Given the description of an element on the screen output the (x, y) to click on. 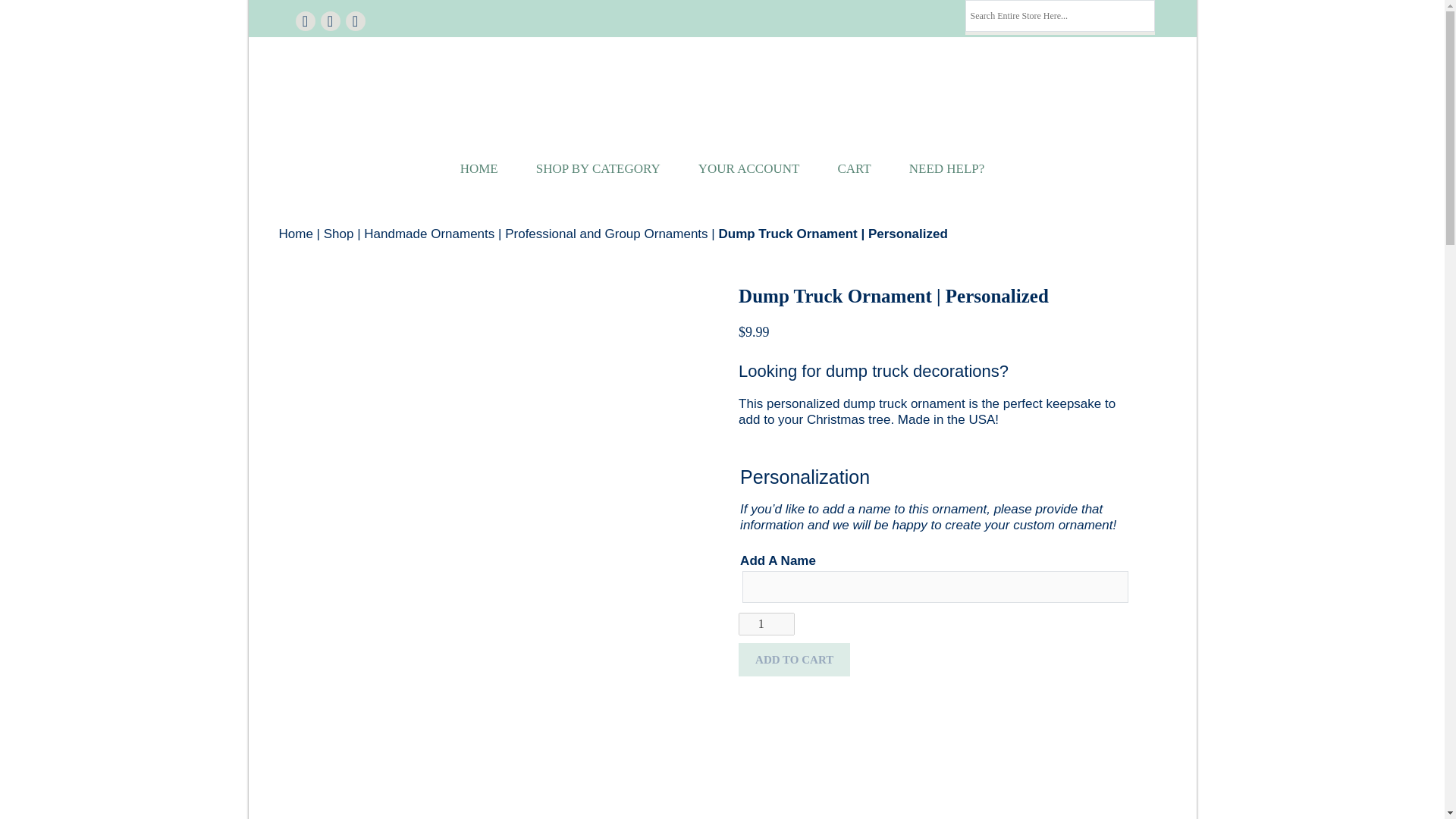
pinterest (329, 20)
ADD TO CART (794, 659)
CART (853, 168)
Handmade Ornaments (429, 233)
1 (766, 623)
NEED HELP? (946, 168)
HOME (478, 168)
YOUR ACCOUNT (748, 168)
facebook (305, 20)
SHOP BY CATEGORY (597, 168)
